Given the description of an element on the screen output the (x, y) to click on. 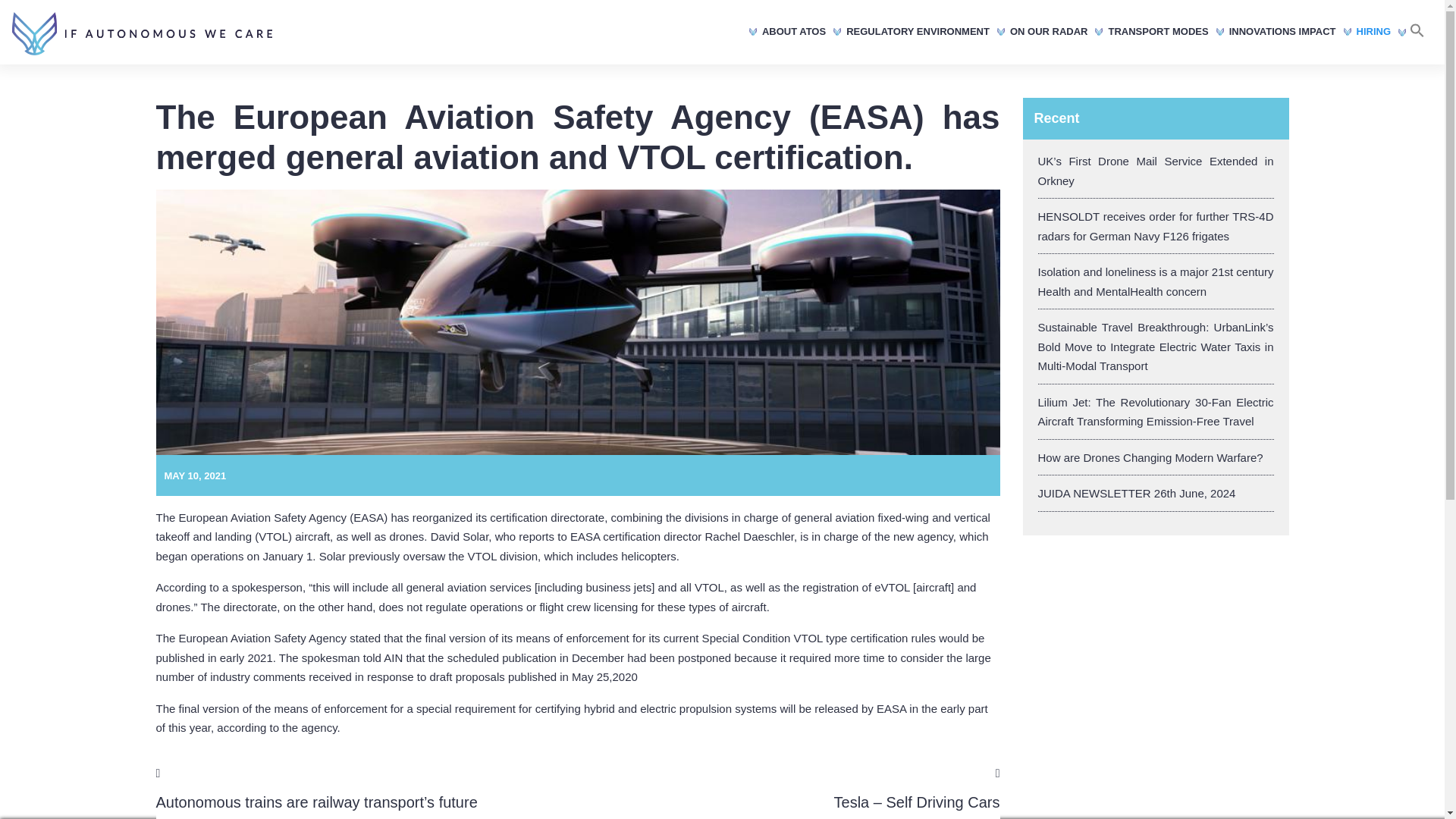
ON OUR RADAR (1051, 33)
TRANSPORT MODES (1159, 33)
Autonomous Transport Open System (141, 33)
ABOUT ATOS (795, 33)
INNOVATIONS IMPACT (1284, 33)
REGULATORY ENVIRONMENT (920, 33)
